Given the description of an element on the screen output the (x, y) to click on. 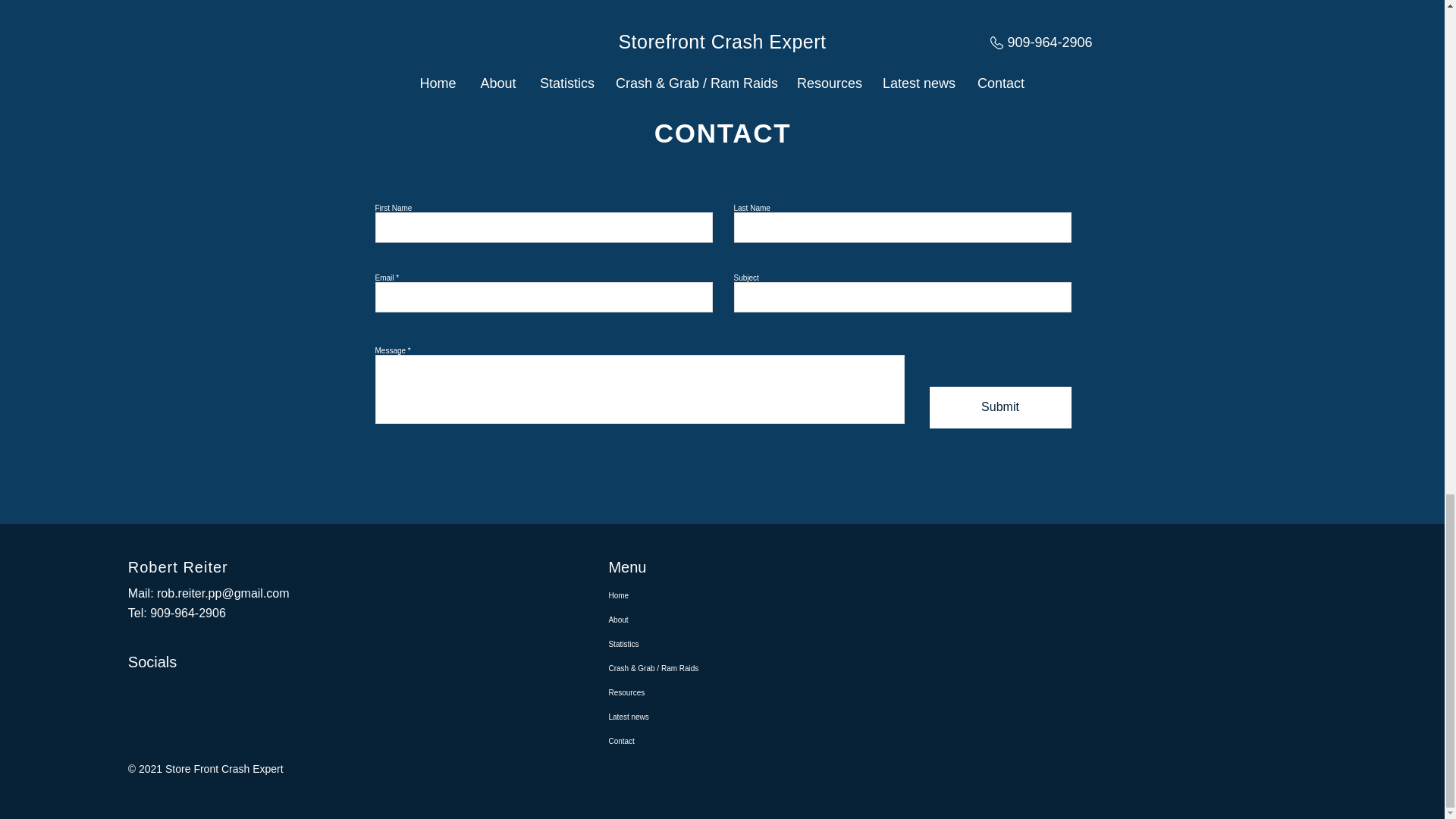
Post not marked as liked (804, 10)
0 (926, 11)
Post not marked as liked (1050, 10)
Submit (1000, 407)
Robert Reiter (178, 566)
Post not marked as liked (558, 10)
0 (435, 11)
0 (681, 11)
